Given the description of an element on the screen output the (x, y) to click on. 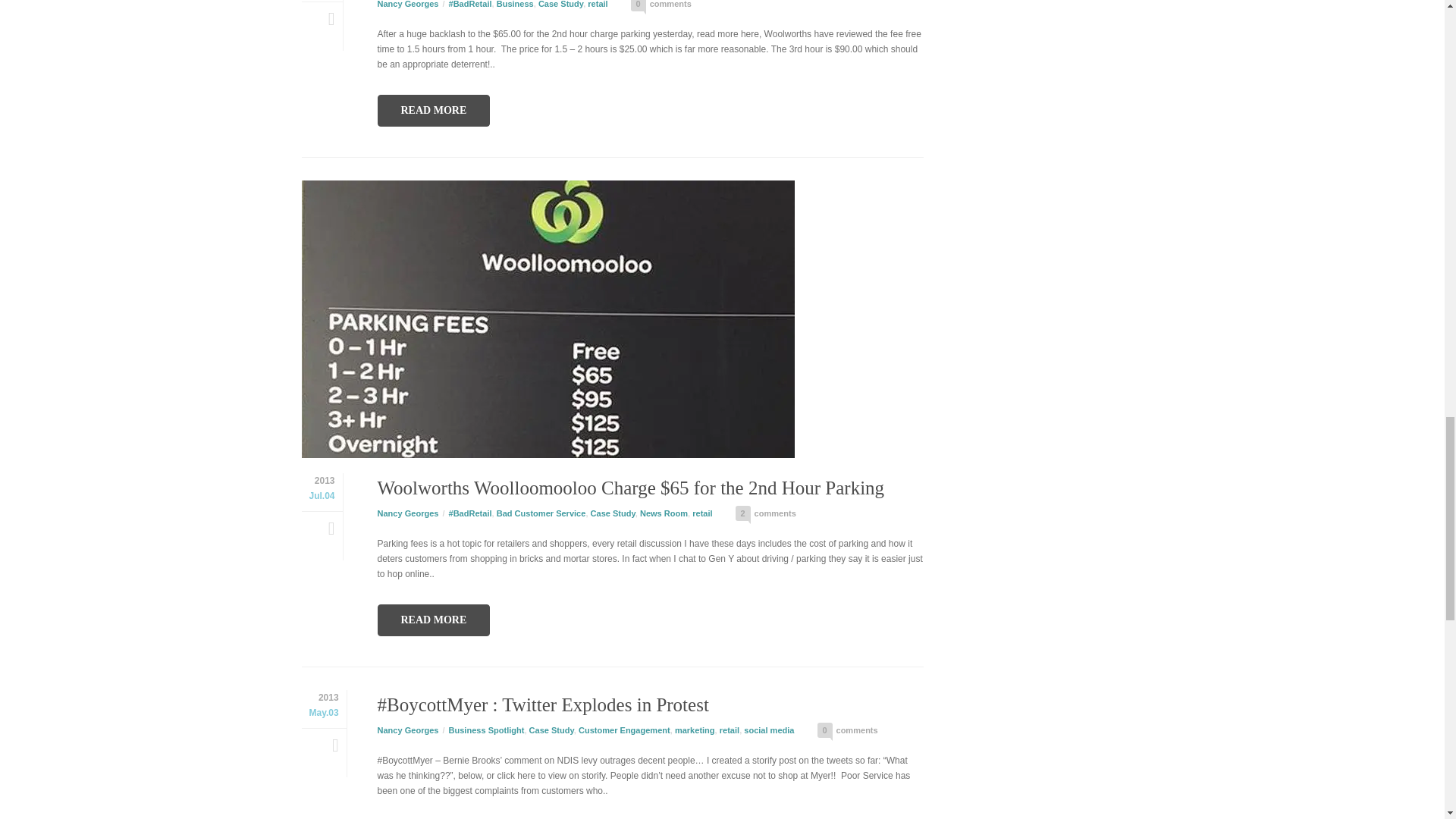
View all posts by Nancy Georges (408, 729)
View all posts by Nancy Georges (408, 4)
View all posts by Nancy Georges (408, 512)
